Given the description of an element on the screen output the (x, y) to click on. 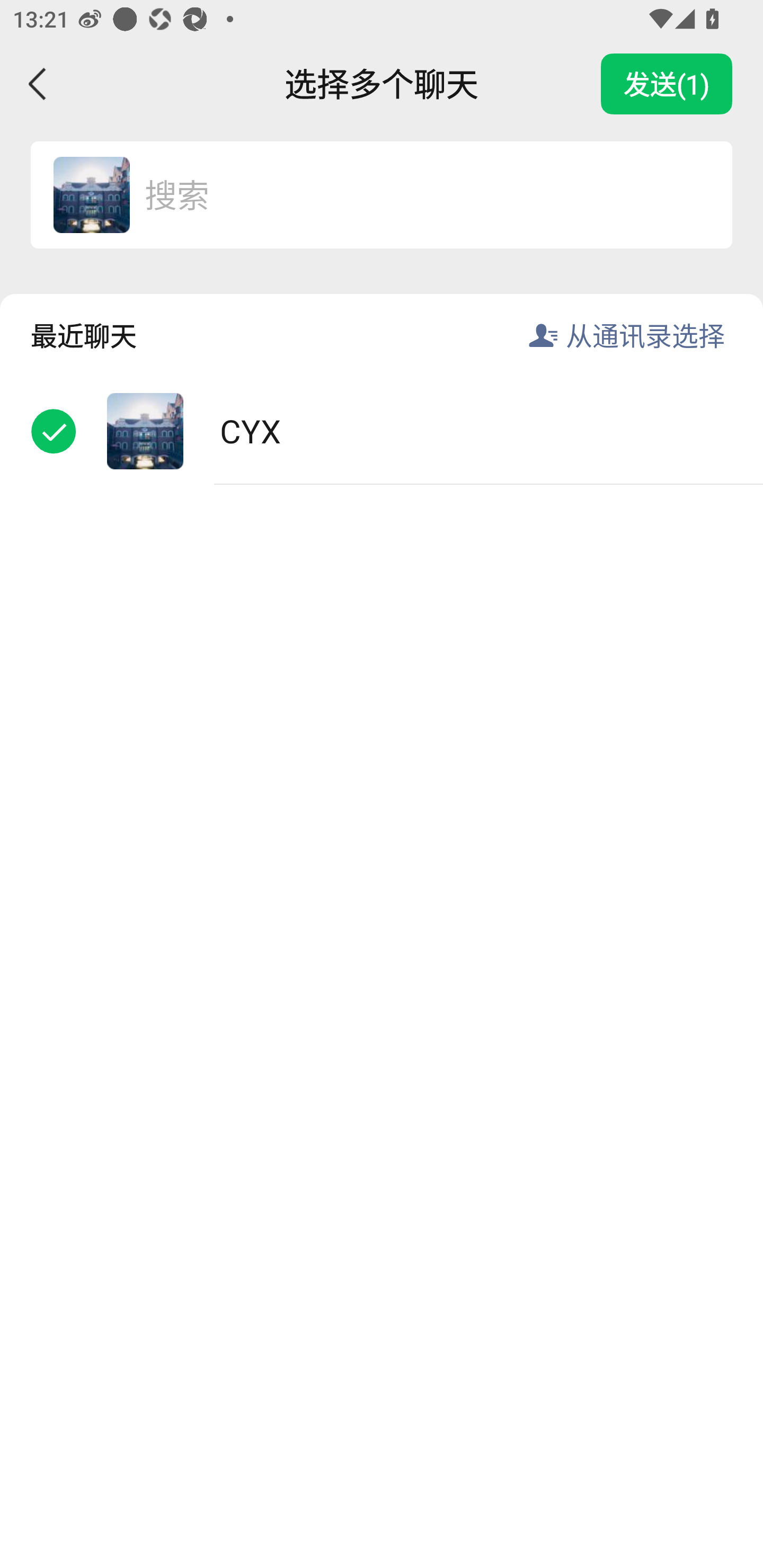
返回 (38, 83)
发送(1) (666, 83)
CYX (91, 194)
搜索 (418, 194)
从通讯录选择 (645, 335)
CYX (381, 430)
